Given the description of an element on the screen output the (x, y) to click on. 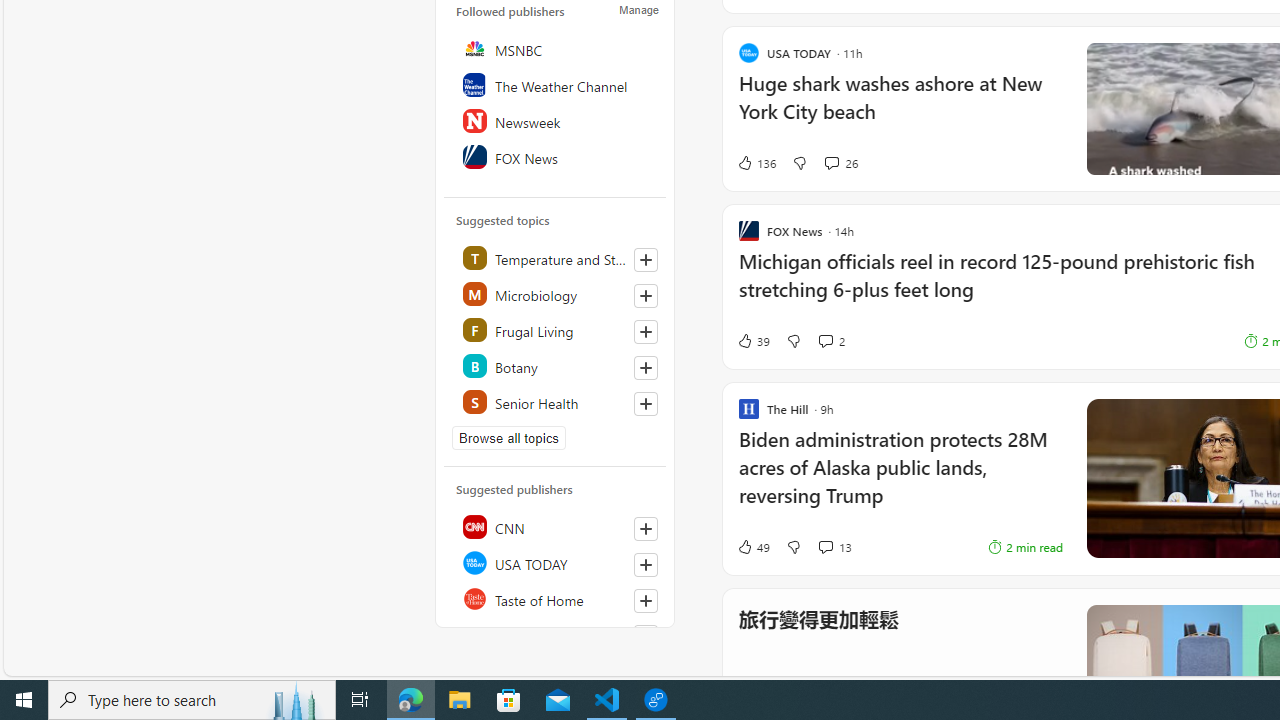
View comments 26 Comment (840, 162)
View comments 2 Comment (830, 340)
Follow this source (645, 600)
MSNBC (556, 48)
49 Like (753, 546)
CNN (556, 526)
39 Like (753, 340)
Newsweek (556, 120)
Browse all topics (509, 438)
View comments 13 Comment (834, 546)
The Weather Channel (556, 84)
136 Like (755, 162)
